Given the description of an element on the screen output the (x, y) to click on. 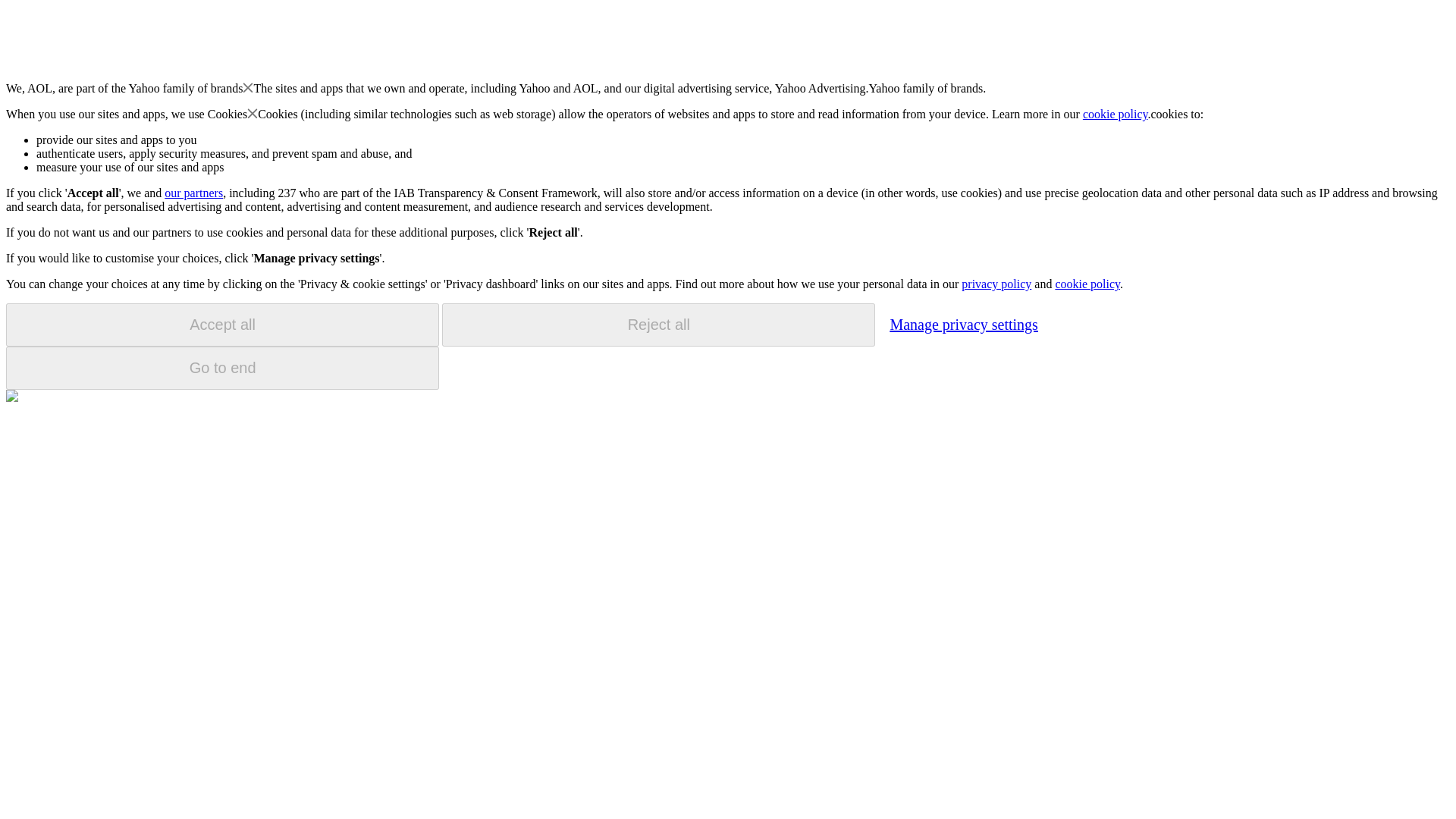
our partners (193, 192)
Go to end (222, 367)
Reject all (658, 324)
Manage privacy settings (963, 323)
cookie policy (1086, 283)
cookie policy (1115, 113)
privacy policy (995, 283)
Accept all (222, 324)
